Given the description of an element on the screen output the (x, y) to click on. 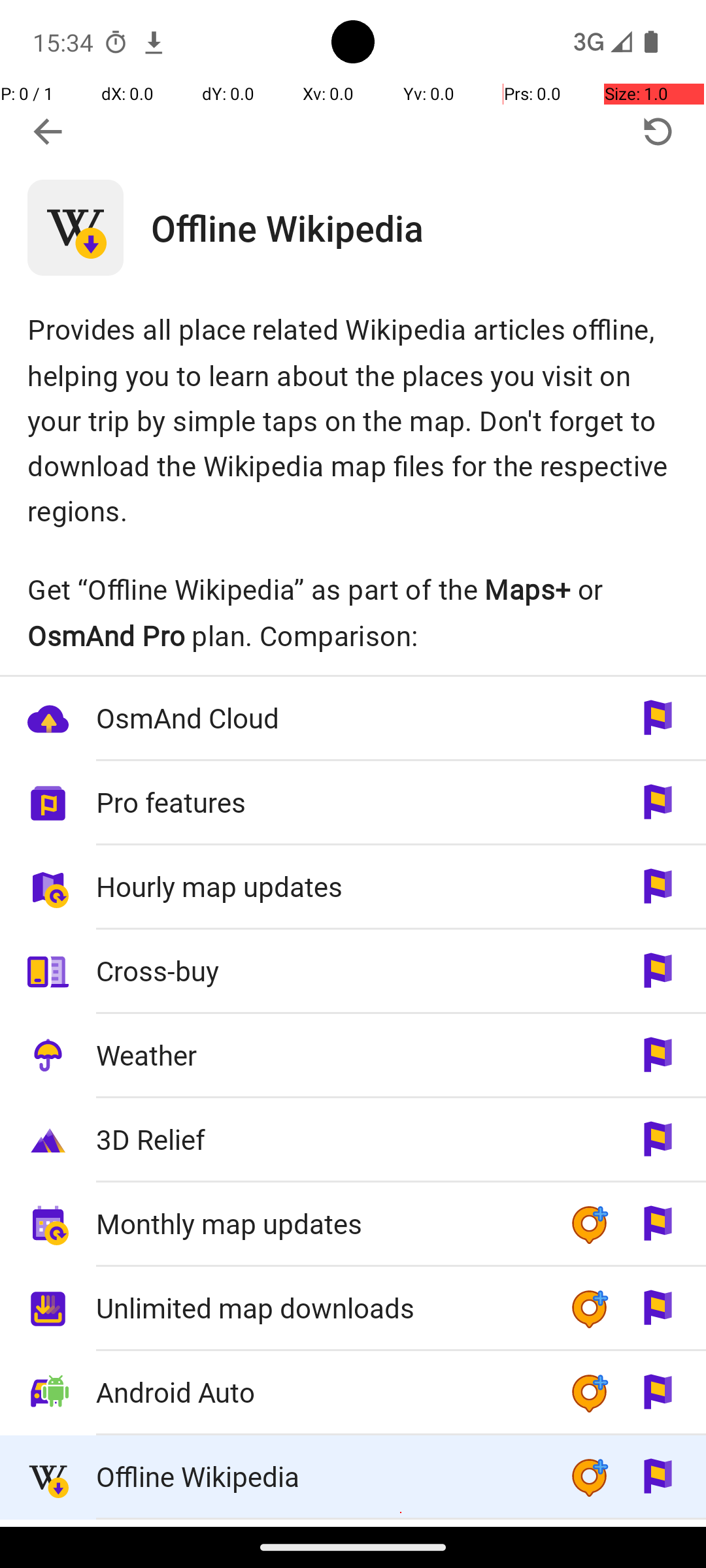
Offline Wikipedia Element type: android.widget.TextView (428, 227)
Restore purchases Element type: android.widget.ImageButton (657, 131)
Provides all place related Wikipedia articles offline, helping you to learn about the places you visit on your trip by simple taps on the map. Don't forget to download the Wikipedia map files for the respective regions. Element type: android.widget.TextView (353, 419)
Get “Offline Wikipedia” as part of the Maps+ or OsmAnd Pro plan. Comparison: Element type: android.widget.TextView (353, 611)
OsmAnd Cloud available as part of the OsmAnd Pro plan Element type: android.widget.LinearLayout (353, 718)
Pro features available as part of the OsmAnd Pro plan Element type: android.widget.LinearLayout (353, 803)
Hourly map updates available as part of the OsmAnd Pro plan Element type: android.widget.LinearLayout (353, 887)
Cross-buy available as part of the OsmAnd Pro plan Element type: android.widget.LinearLayout (353, 971)
Weather available as part of the OsmAnd Pro plan Element type: android.widget.LinearLayout (353, 1055)
3D Relief available as part of the OsmAnd Pro plan Element type: android.widget.LinearLayout (353, 1140)
Monthly map updates available as part of the OsmAnd+ or OsmAnd Pro plan Element type: android.widget.LinearLayout (353, 1224)
Unlimited map downloads available as part of the OsmAnd+ or OsmAnd Pro plan Element type: android.widget.LinearLayout (353, 1308)
Android Auto available as part of the OsmAnd+ or OsmAnd Pro plan Element type: android.widget.LinearLayout (353, 1393)
Offline Wikipedia available as part of the OsmAnd+ or OsmAnd Pro plan Element type: android.widget.LinearLayout (353, 1477)
Offline Wikivoyage available as part of the OsmAnd+ or OsmAnd Pro plan Element type: android.widget.LinearLayout (353, 1522)
OsmAnd Cloud Element type: android.widget.TextView (318, 717)
Pro features Element type: android.widget.TextView (318, 801)
Hourly map updates Element type: android.widget.TextView (318, 885)
Cross-buy Element type: android.widget.TextView (318, 970)
Weather Element type: android.widget.TextView (318, 1054)
3D Relief Element type: android.widget.TextView (318, 1138)
Monthly map updates Element type: android.widget.TextView (318, 1222)
Unlimited map downloads Element type: android.widget.TextView (318, 1307)
Offline Wikivoyage Element type: android.widget.TextView (318, 1523)
